Given the description of an element on the screen output the (x, y) to click on. 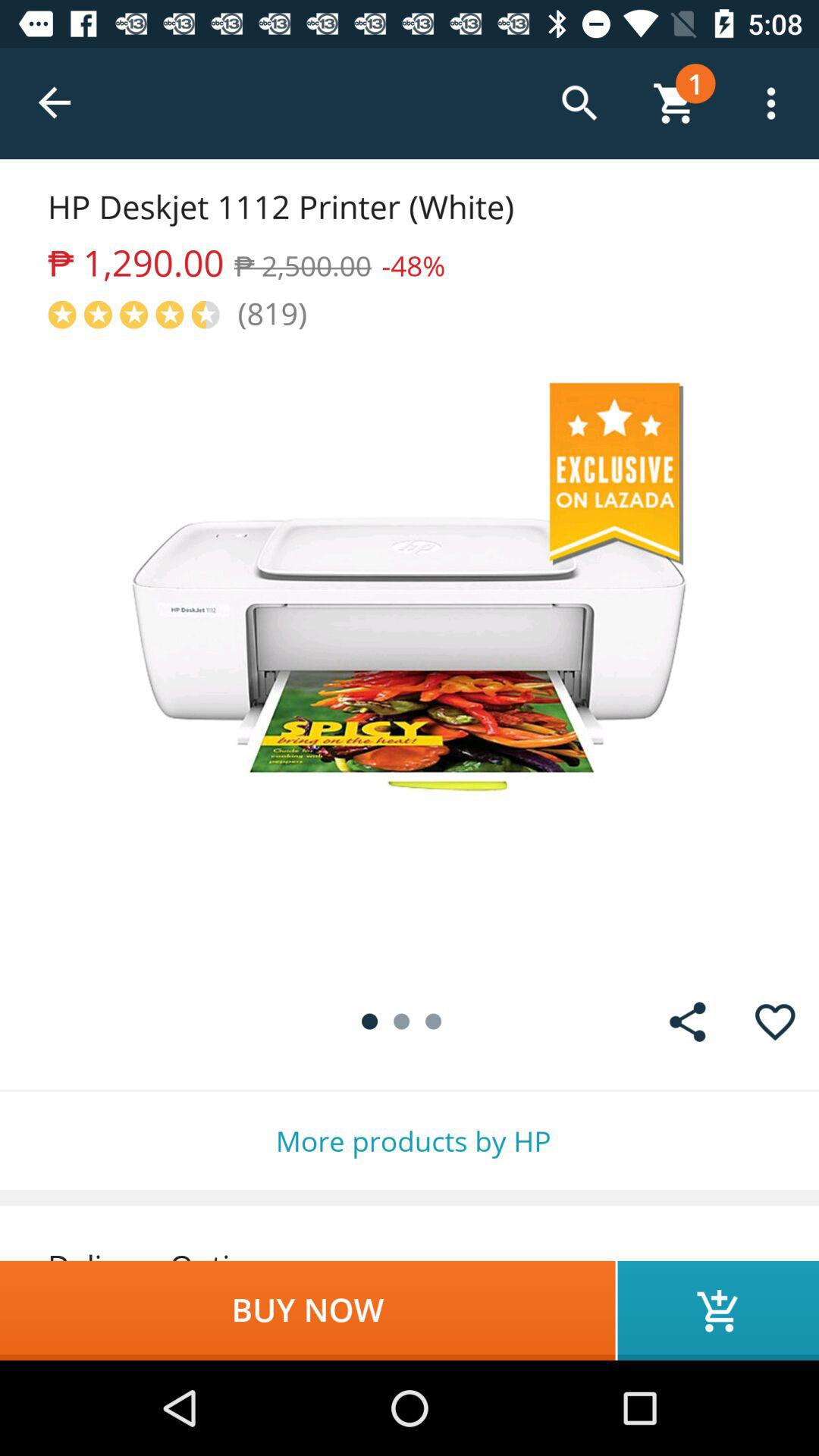
press the item above the more products by item (775, 1021)
